Given the description of an element on the screen output the (x, y) to click on. 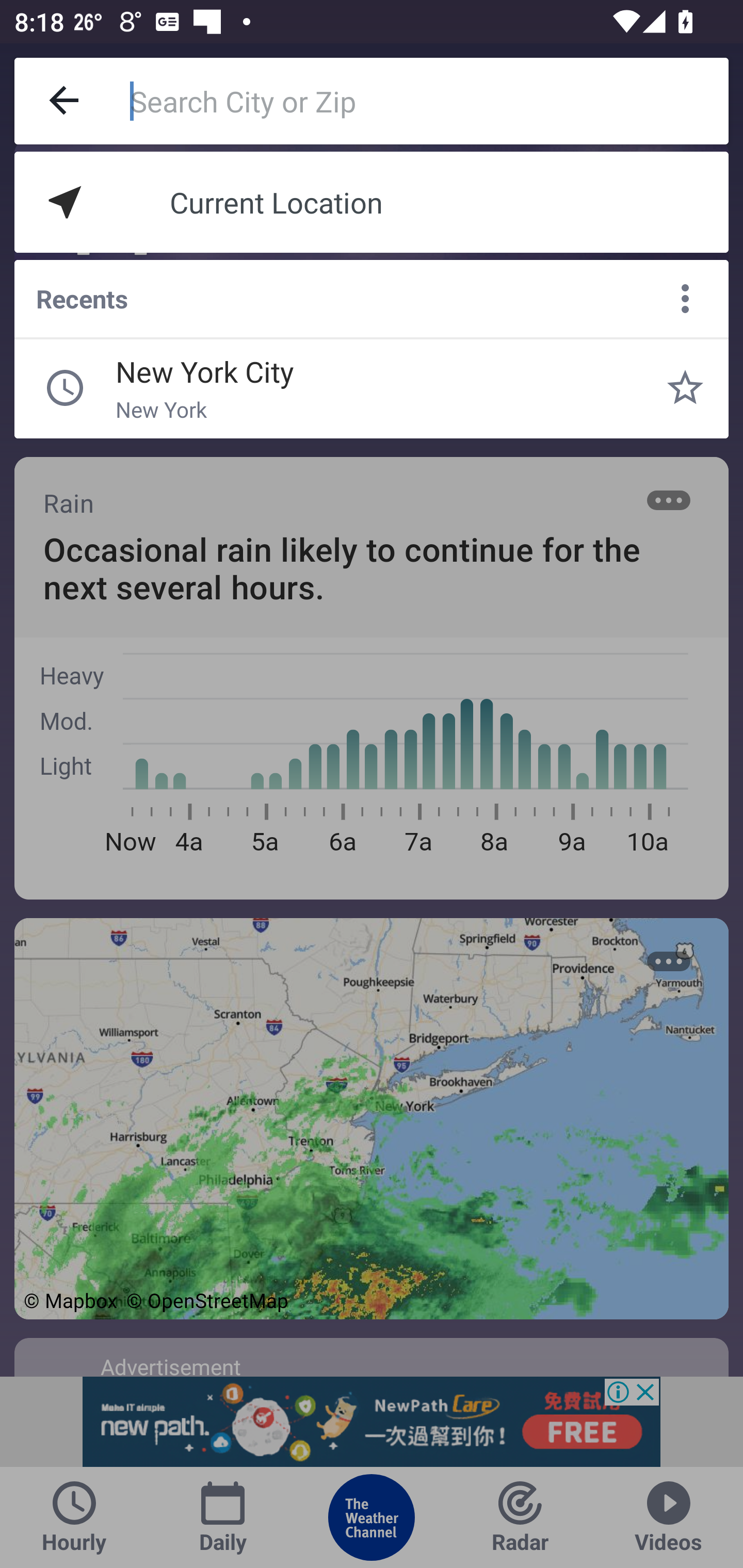
Back (64, 101)
Search City or Zip (429, 100)
Current Location (371, 202)
more (685, 298)
New York City New York Add to favorites (684, 387)
